Given the description of an element on the screen output the (x, y) to click on. 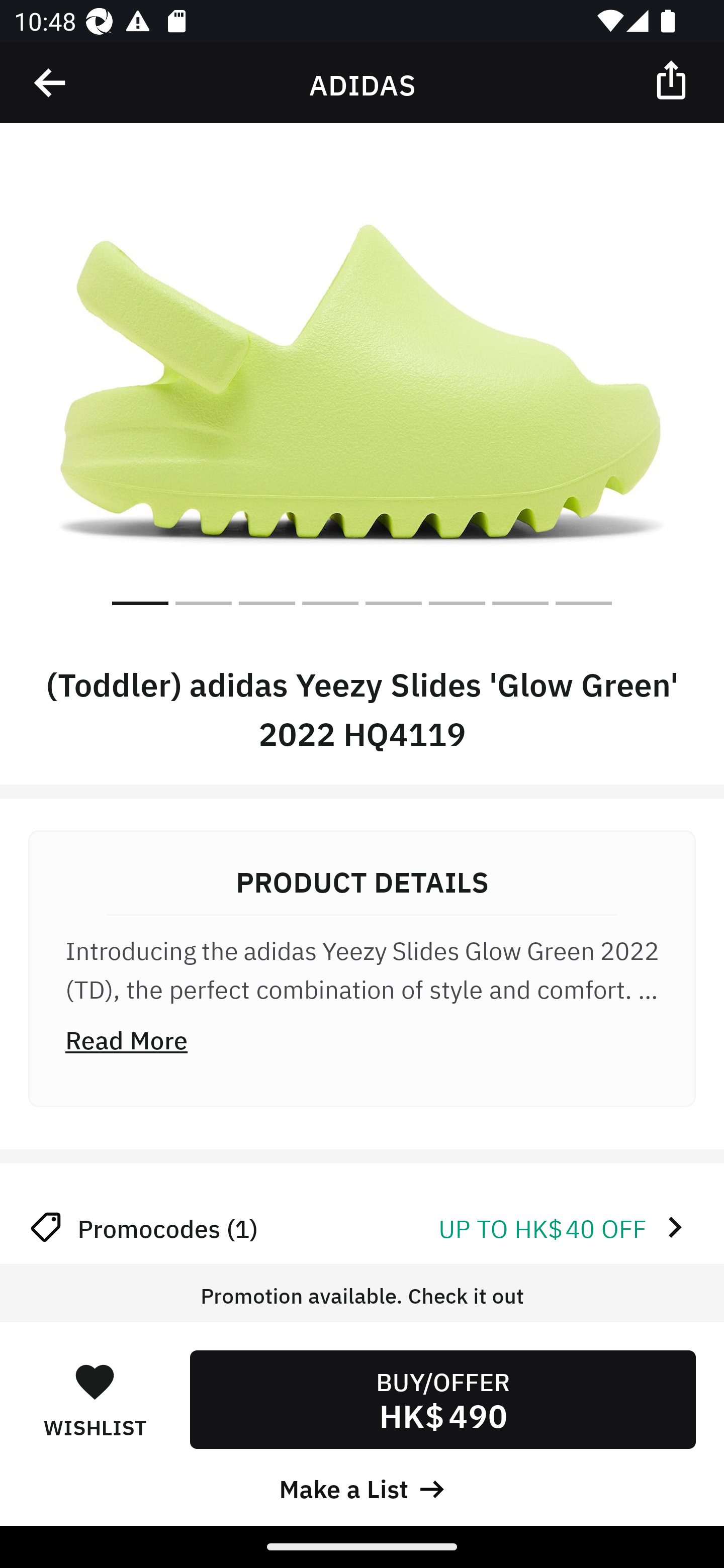
 (50, 83)
 (672, 79)
Promocodes (1) UP TO HK$ 40 OFF  (361, 1226)
BUY/OFFER HK$ 490 (442, 1399)
󰋑 (94, 1380)
Make a List (361, 1486)
